Given the description of an element on the screen output the (x, y) to click on. 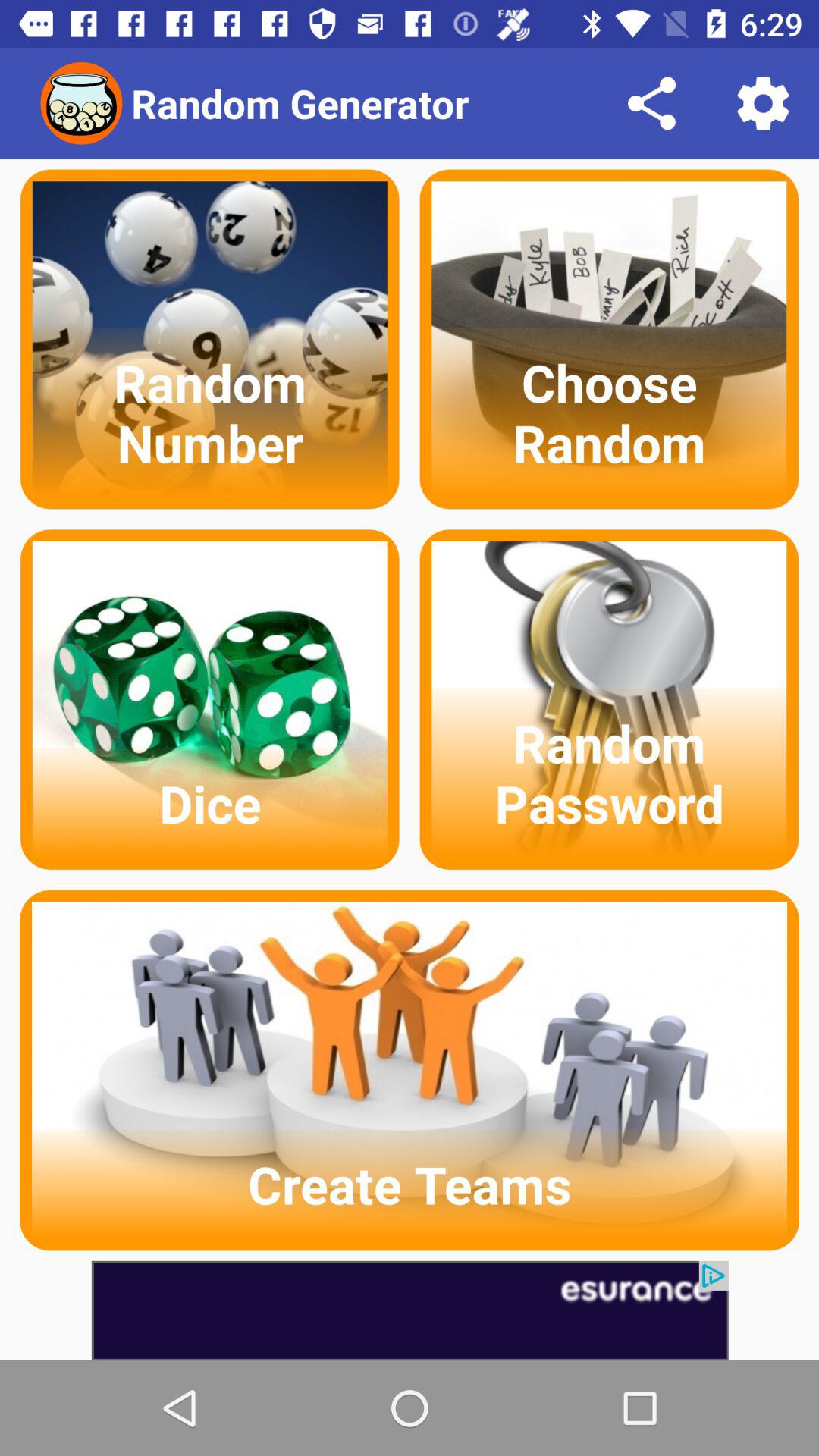
advertisement (409, 1310)
